Given the description of an element on the screen output the (x, y) to click on. 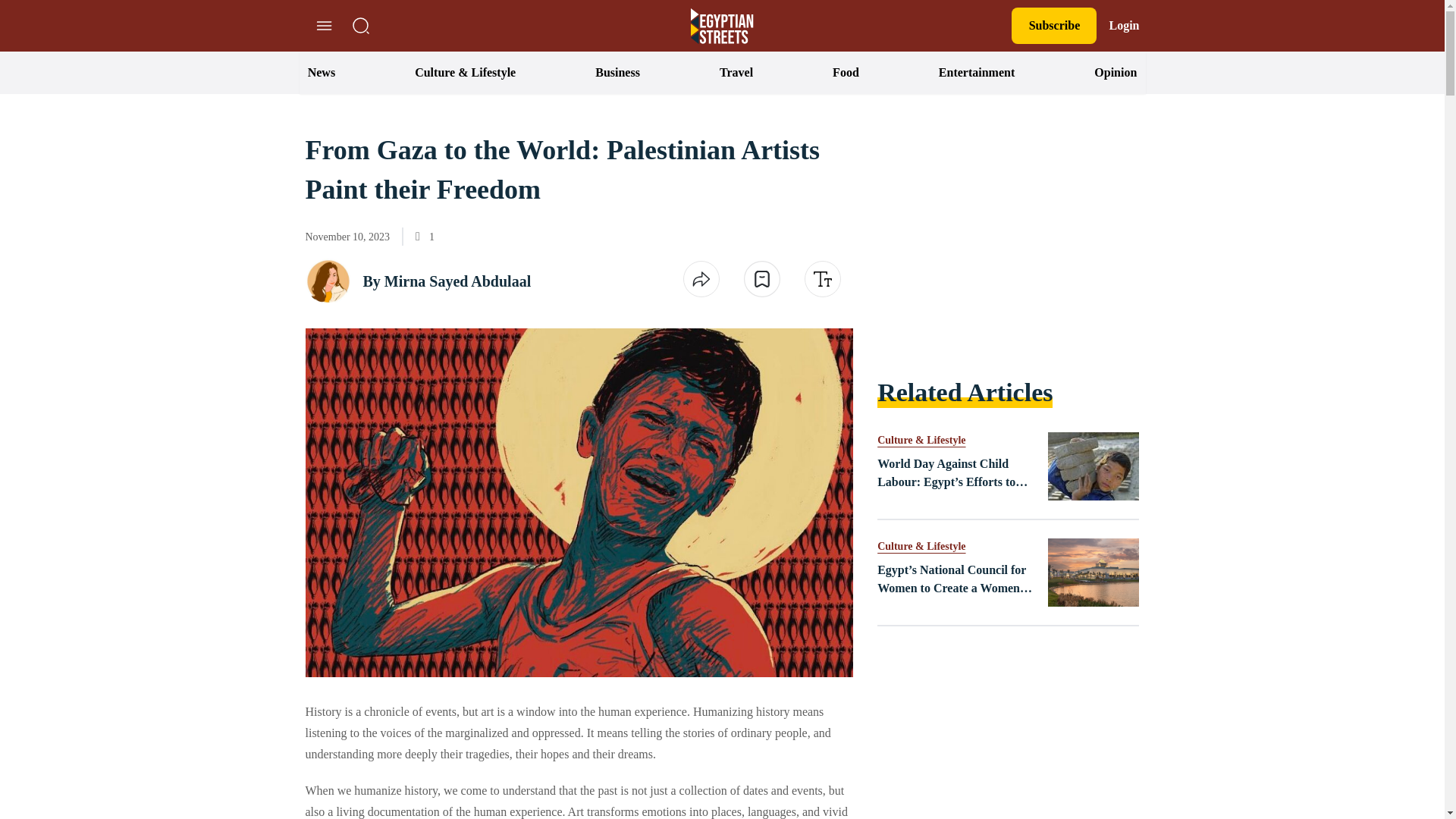
Subscribe (1053, 25)
Login (1123, 25)
